Given the description of an element on the screen output the (x, y) to click on. 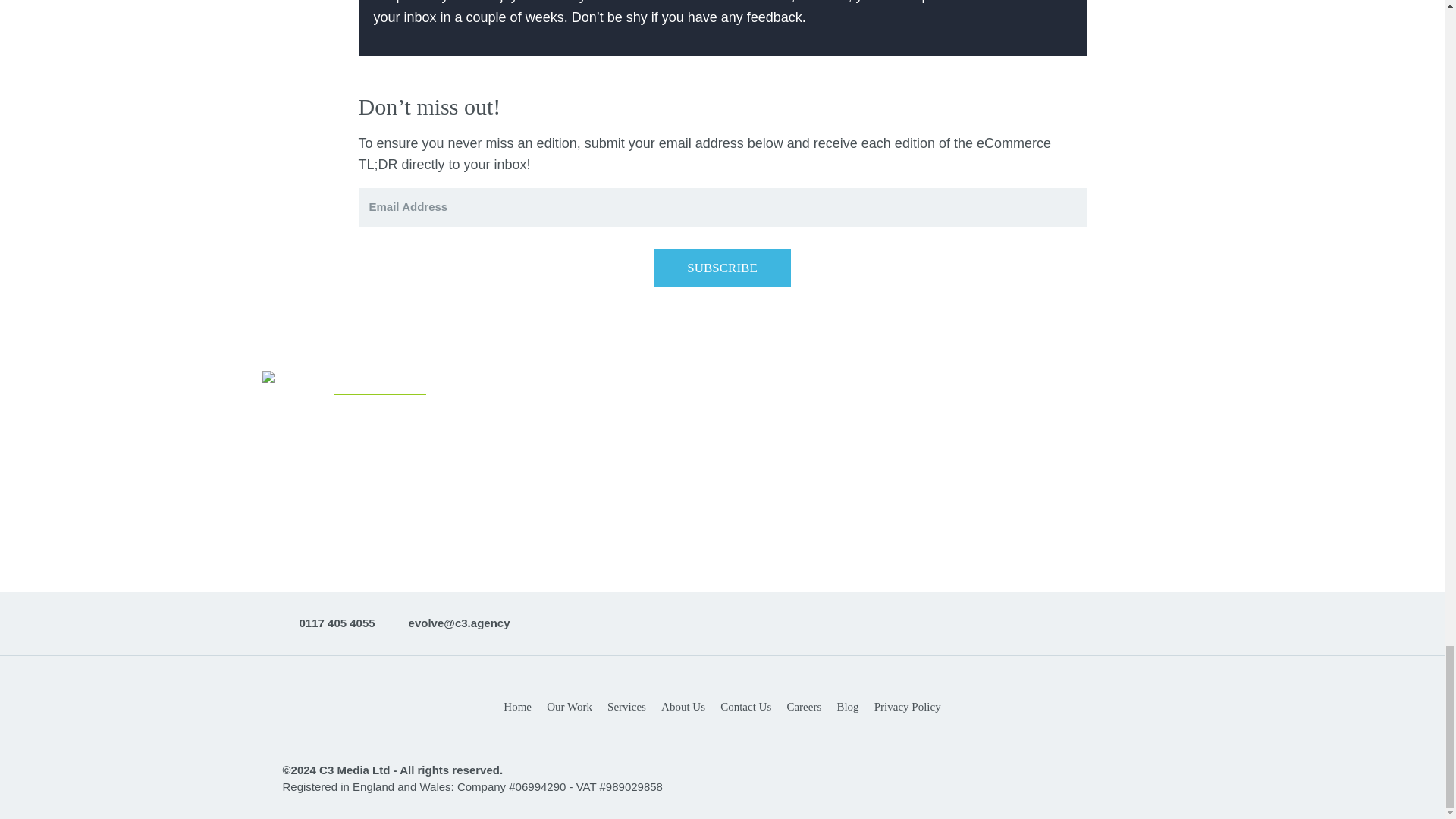
Subscribe (721, 268)
Email (450, 622)
Home (721, 655)
0117 405 4055 (328, 622)
Home (517, 706)
Subscribe (721, 268)
